Given the description of an element on the screen output the (x, y) to click on. 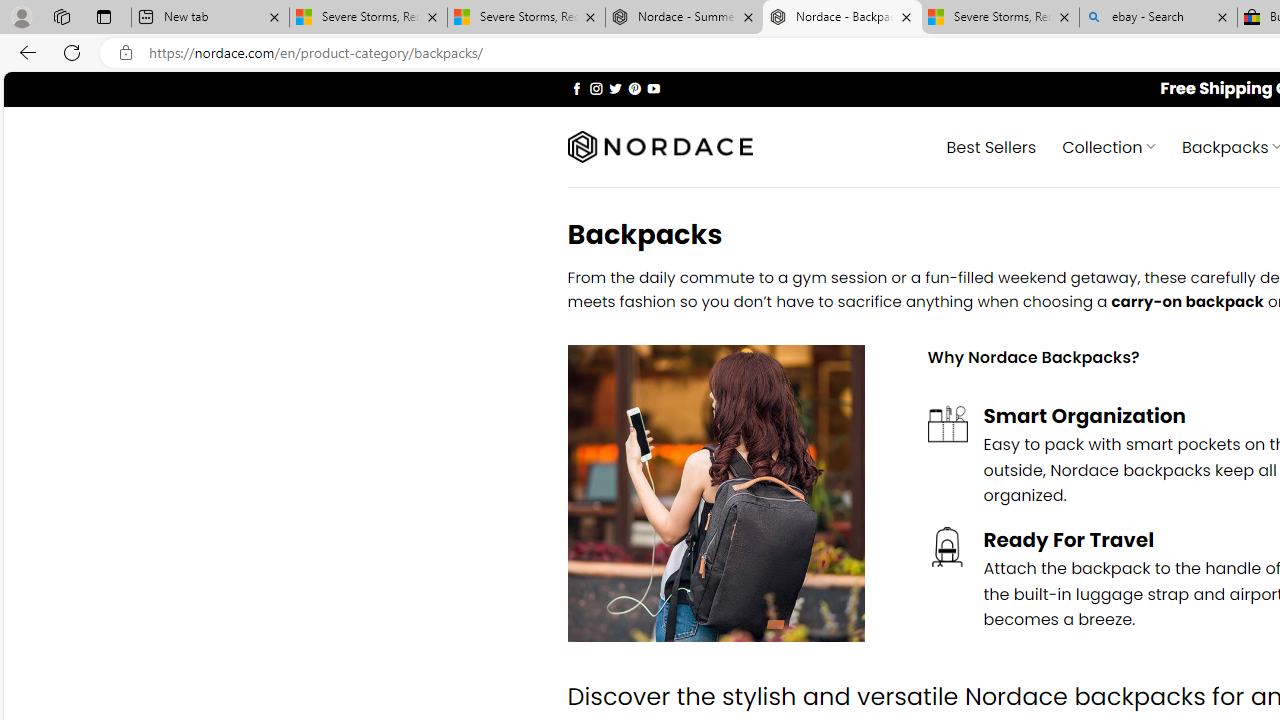
 Best Sellers (990, 146)
Nordace - Backpacks (842, 17)
